Given the description of an element on the screen output the (x, y) to click on. 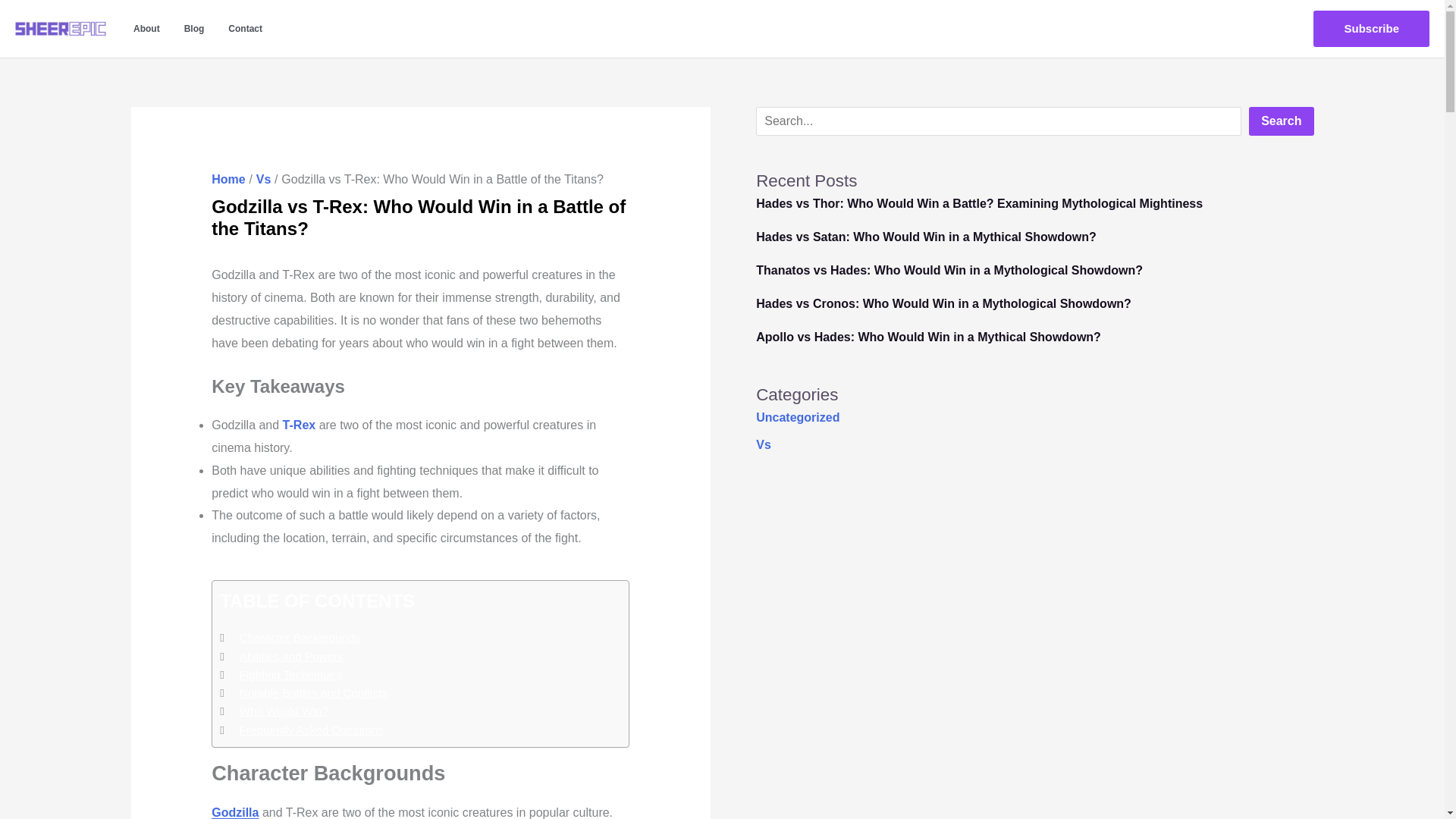
Abilities and Powers (291, 656)
Who Would Win? (284, 710)
Abilities and Powers (291, 656)
Contact (245, 28)
Search (1281, 121)
Vs (263, 178)
Fighting Techniques (291, 674)
Godzilla (235, 812)
Frequently Asked Questions (312, 730)
Fighting Techniques (291, 674)
Notable Battles and Conflicts (313, 692)
About (145, 28)
Hades vs Satan: Who Would Win in a Mythical Showdown? (925, 236)
Godzilla (235, 812)
